Given the description of an element on the screen output the (x, y) to click on. 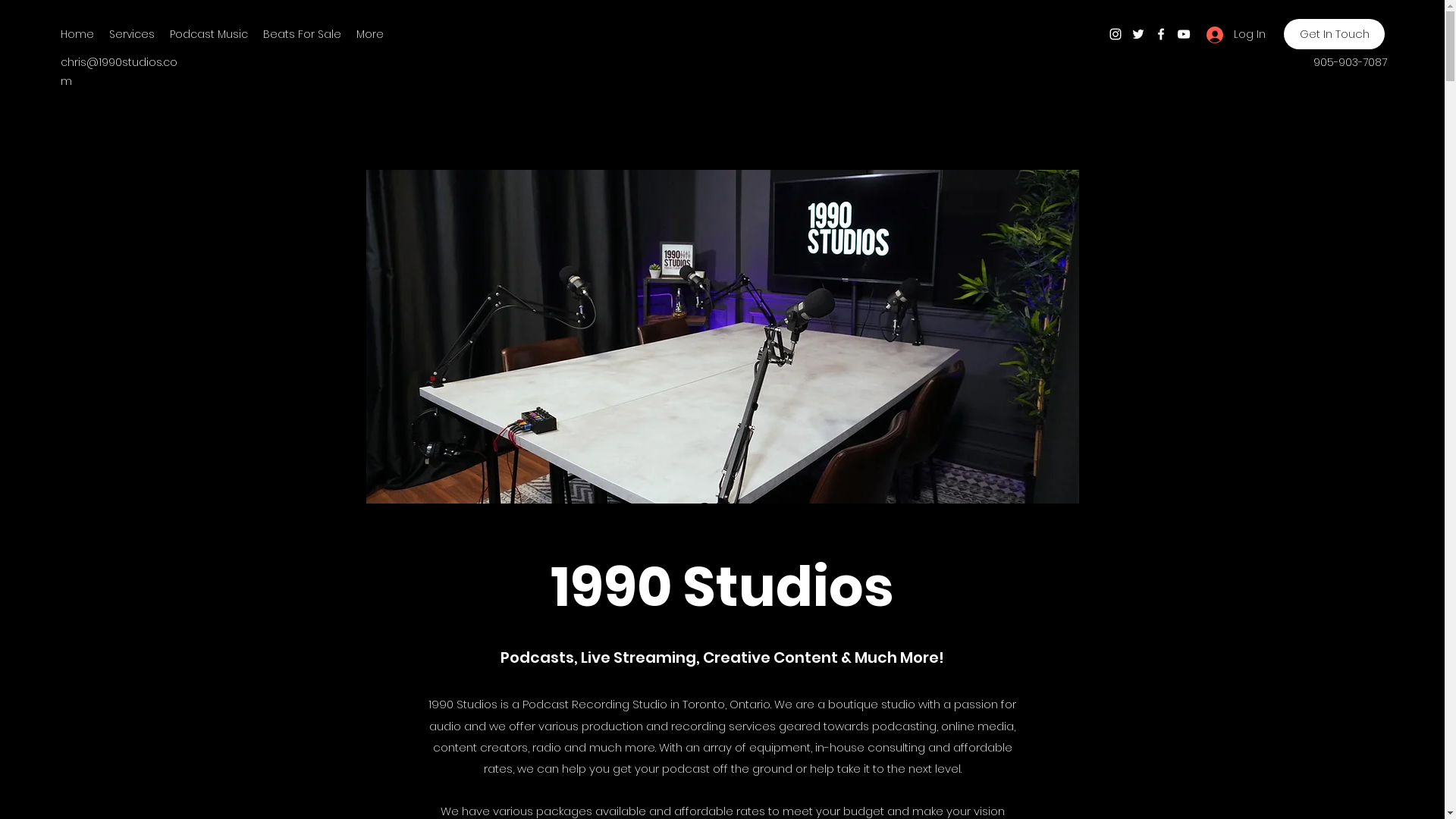
Podcast Music Element type: text (208, 33)
Beats For Sale Element type: text (301, 33)
chris@1990studios.com Element type: text (118, 71)
Log In Element type: text (1229, 34)
Home Element type: text (77, 33)
Get In Touch Element type: text (1333, 33)
Services Element type: text (131, 33)
